Given the description of an element on the screen output the (x, y) to click on. 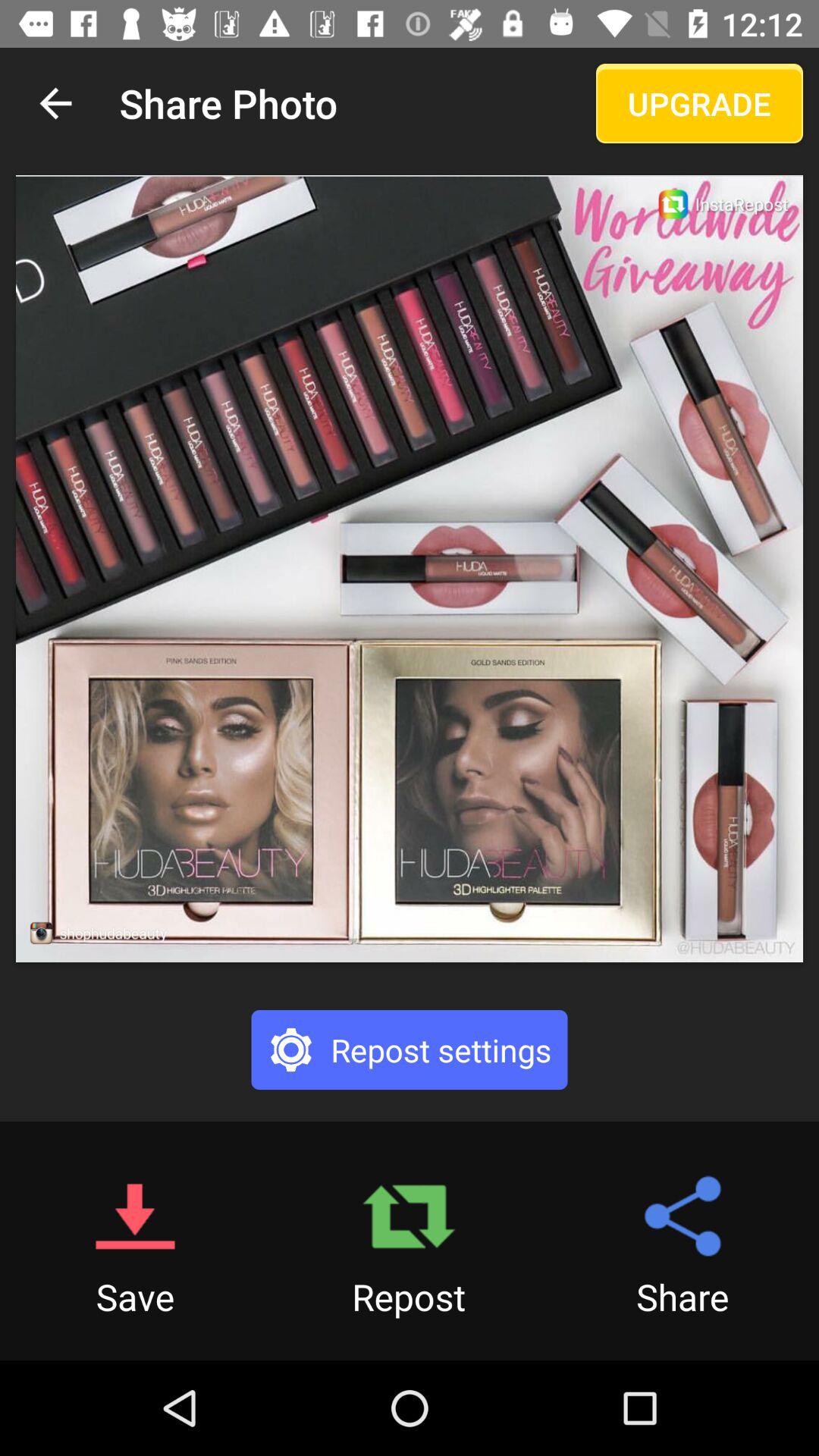
go back (55, 103)
